Given the description of an element on the screen output the (x, y) to click on. 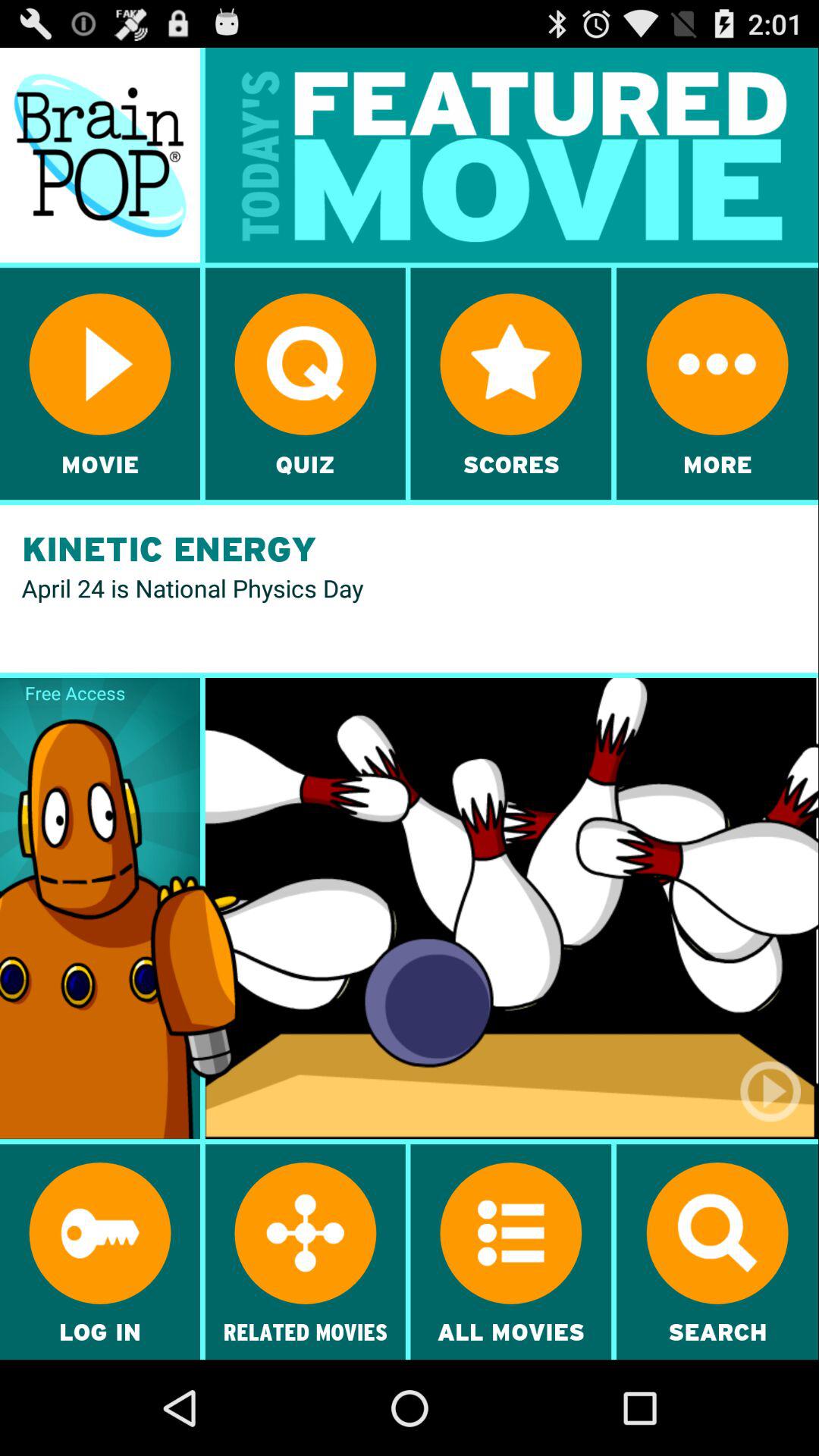
go to home page (100, 154)
